Given the description of an element on the screen output the (x, y) to click on. 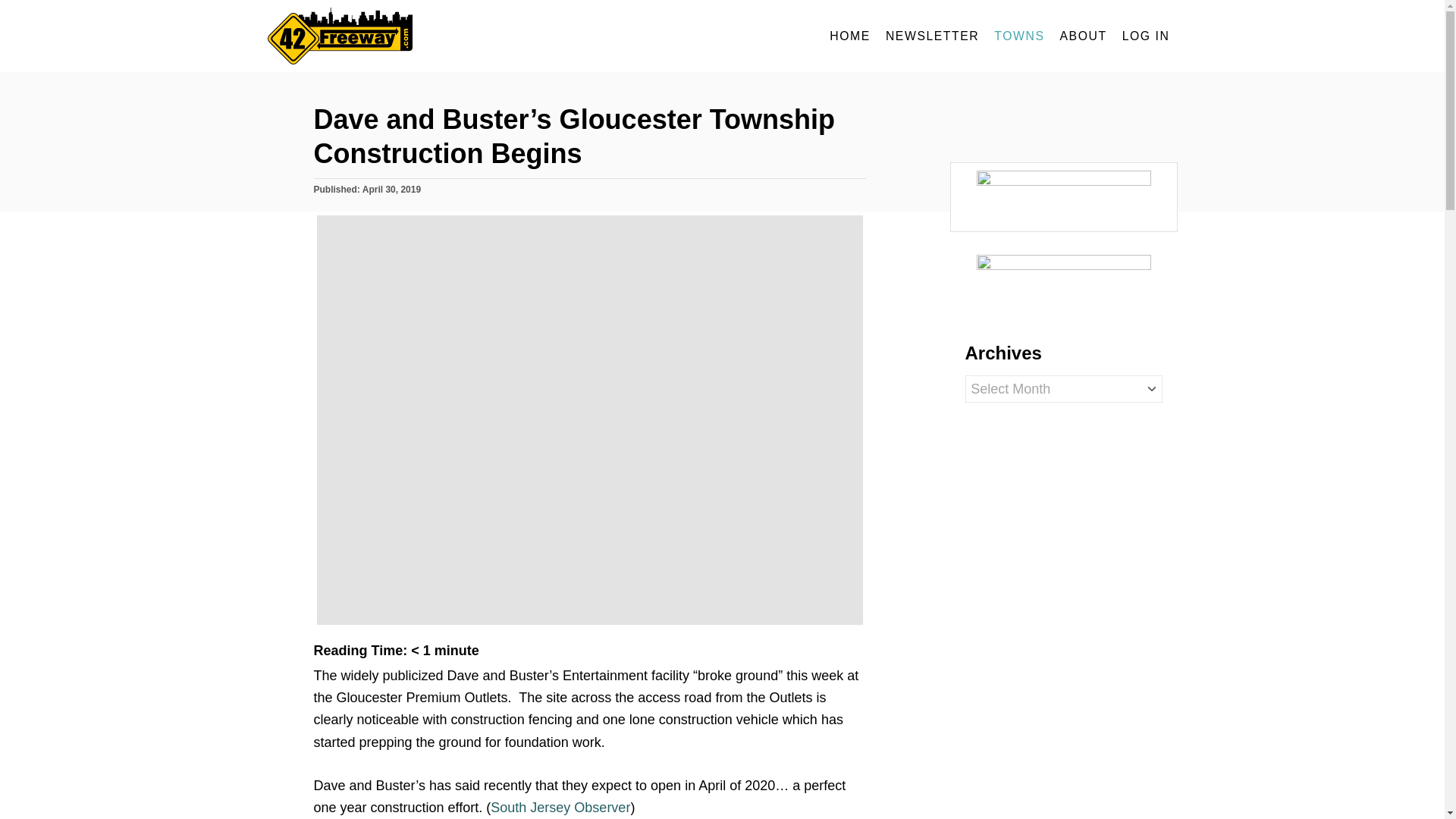
NEWSLETTER (932, 36)
TOWNS (1019, 36)
LOG IN (1146, 36)
42 Freeway (403, 36)
ABOUT (1083, 36)
HOME (849, 36)
South Jersey Observer (560, 807)
